Given the description of an element on the screen output the (x, y) to click on. 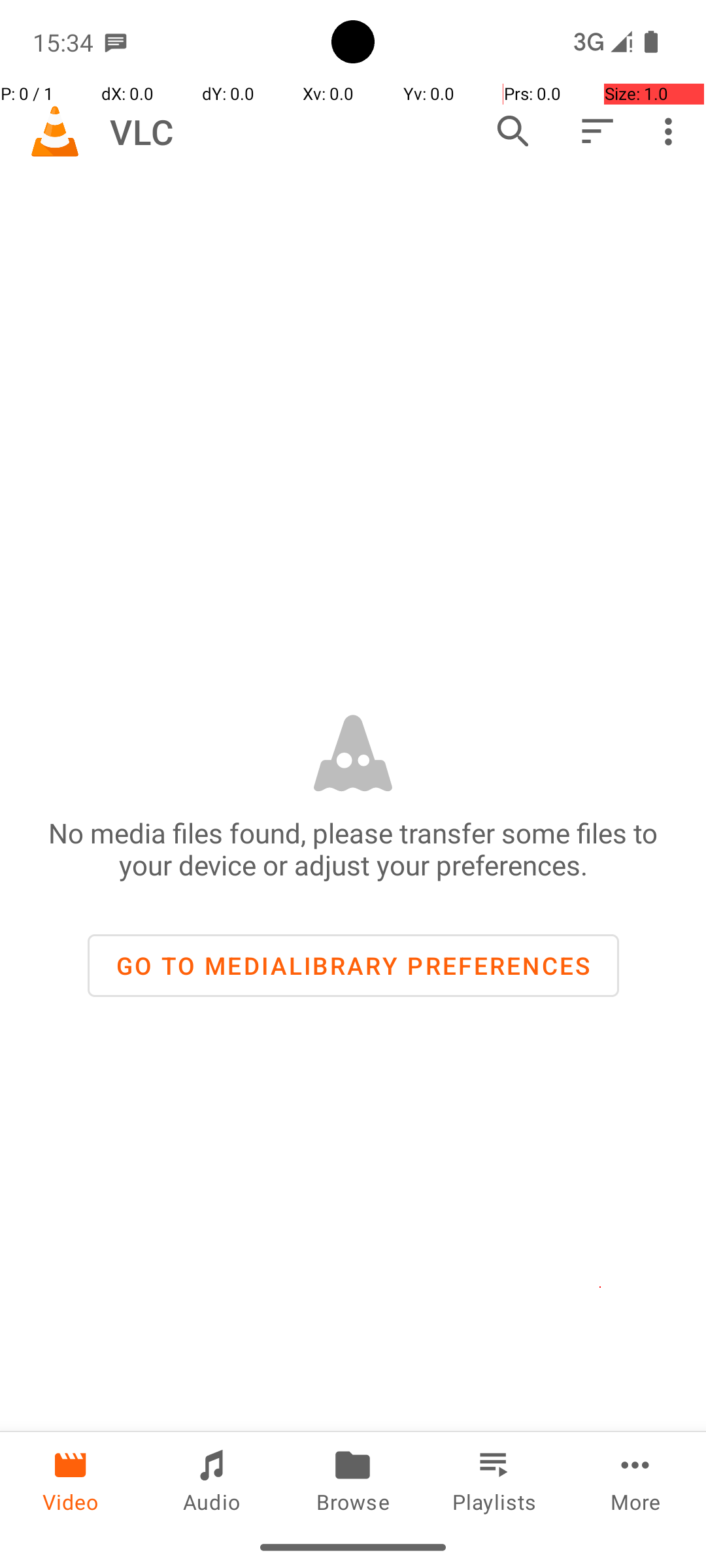
Sort by… Element type: android.widget.TextView (595, 131)
No media files found, please transfer some files to your device or adjust your preferences. Element type: android.widget.TextView (352, 848)
GO TO MEDIALIBRARY PREFERENCES Element type: android.widget.Button (353, 965)
Video Element type: android.widget.FrameLayout (70, 1478)
Browse Element type: android.widget.FrameLayout (352, 1478)
